Given the description of an element on the screen output the (x, y) to click on. 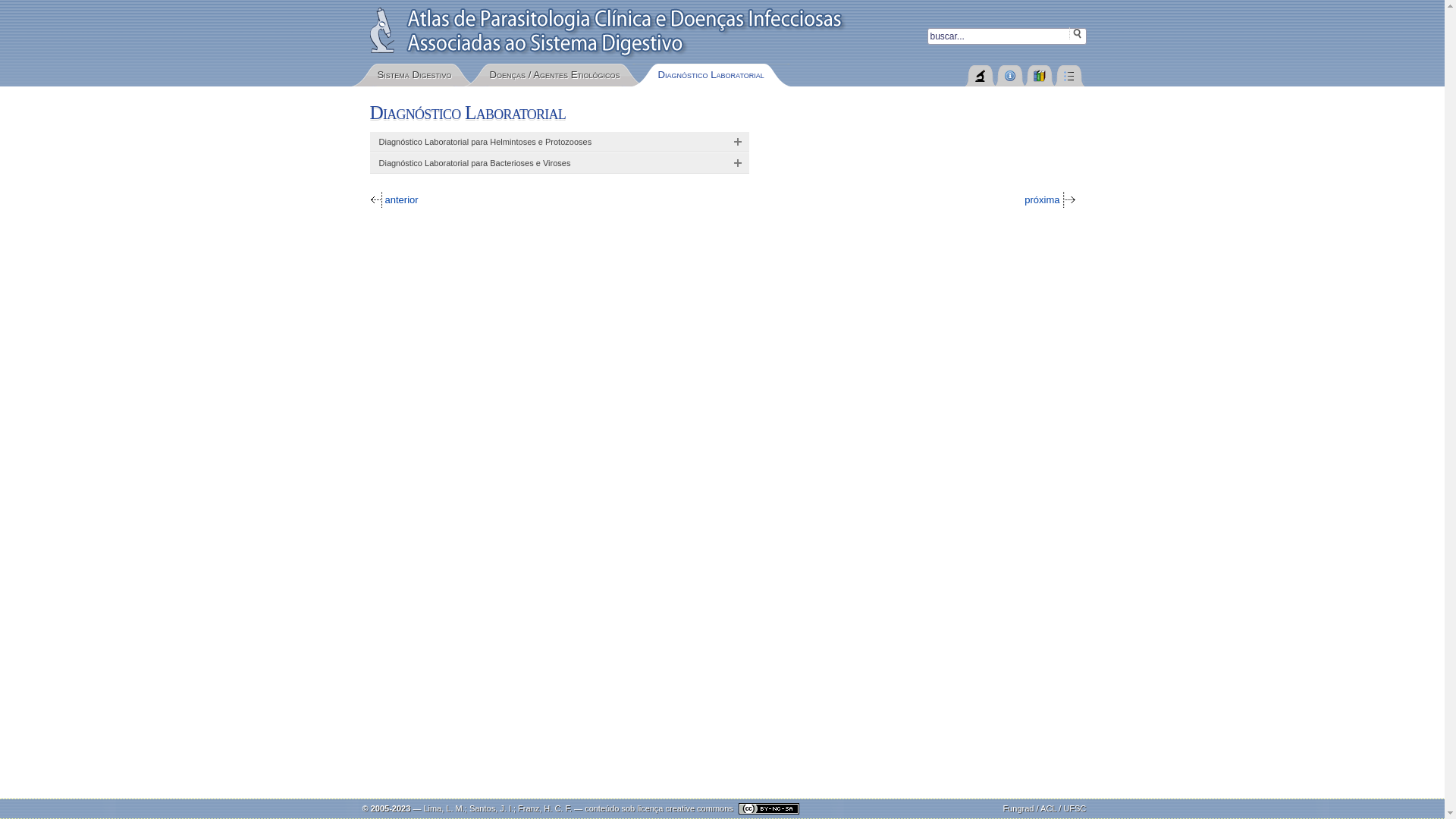
Fungrad Element type: text (1017, 807)
UFSC Element type: text (1074, 807)
anterior Element type: text (394, 199)
creative commons Element type: text (732, 807)
ACL Element type: text (1048, 807)
buscar... Element type: hover (1005, 36)
Sistema Digestivo Element type: text (414, 74)
Lima, L. M.; Santos, J. I.; Franz, H. C. F. Element type: text (497, 807)
